Given the description of an element on the screen output the (x, y) to click on. 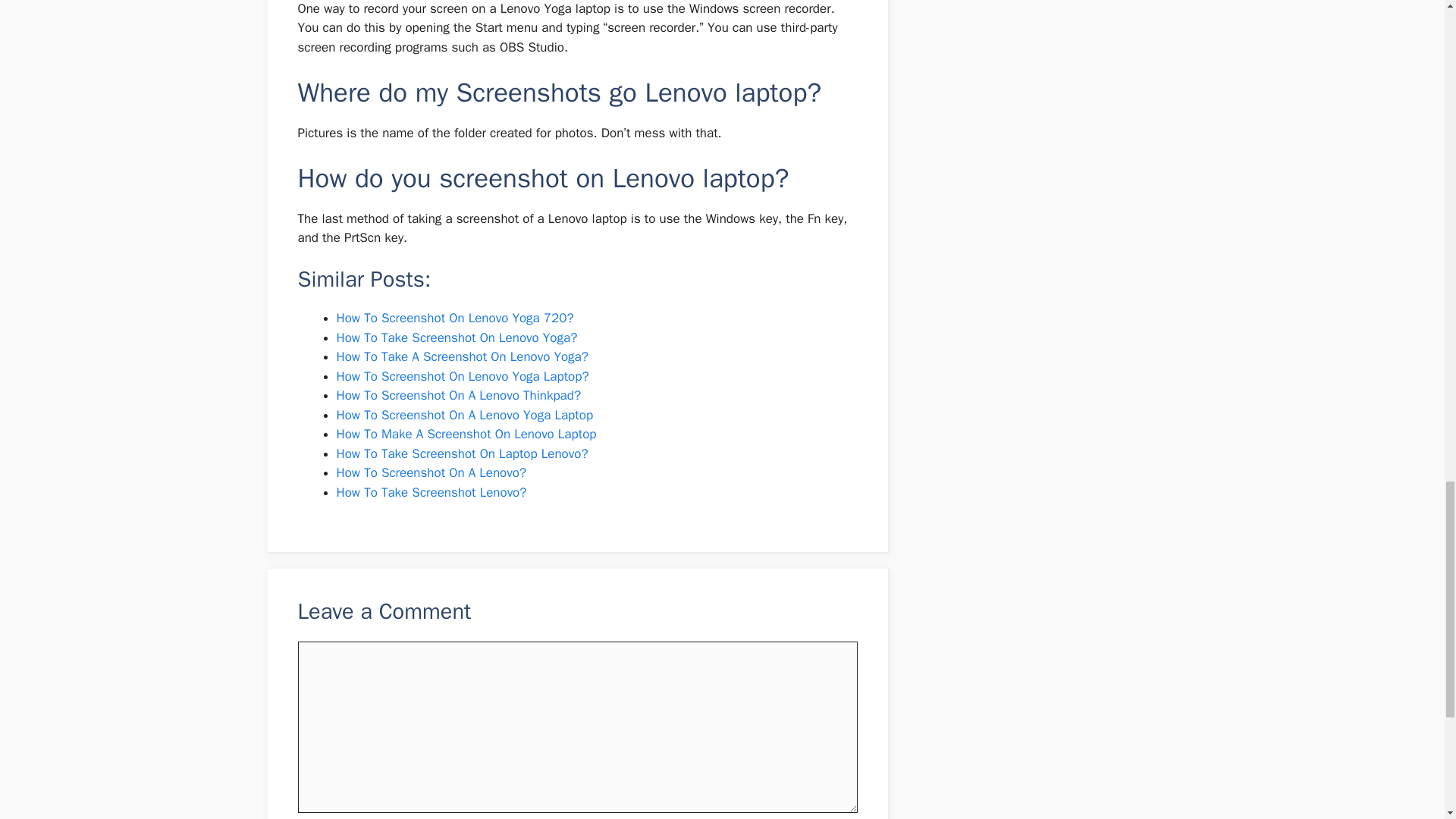
How To Screenshot On Lenovo Yoga 720? (454, 6)
How To Take A Screenshot On Lenovo Yoga? (462, 44)
How To Screenshot On A Lenovo? (431, 160)
How To Screenshot On A Lenovo Yoga Laptop (465, 102)
How To Screenshot On Lenovo Yoga Laptop? (462, 64)
How To Take Screenshot Lenovo? (431, 179)
How To Take Screenshot On Laptop Lenovo? (462, 141)
How To Screenshot On A Lenovo? (431, 160)
How To Take Screenshot On Lenovo Yoga? (457, 25)
How To Take Screenshot On Laptop Lenovo? (462, 141)
How To Take Screenshot On Lenovo Yoga? (457, 25)
How To Screenshot On Lenovo Yoga Laptop? (462, 64)
How To Screenshot On A Lenovo Thinkpad? (458, 82)
How To Take Screenshot Lenovo? (431, 179)
yes (302, 655)
